Given the description of an element on the screen output the (x, y) to click on. 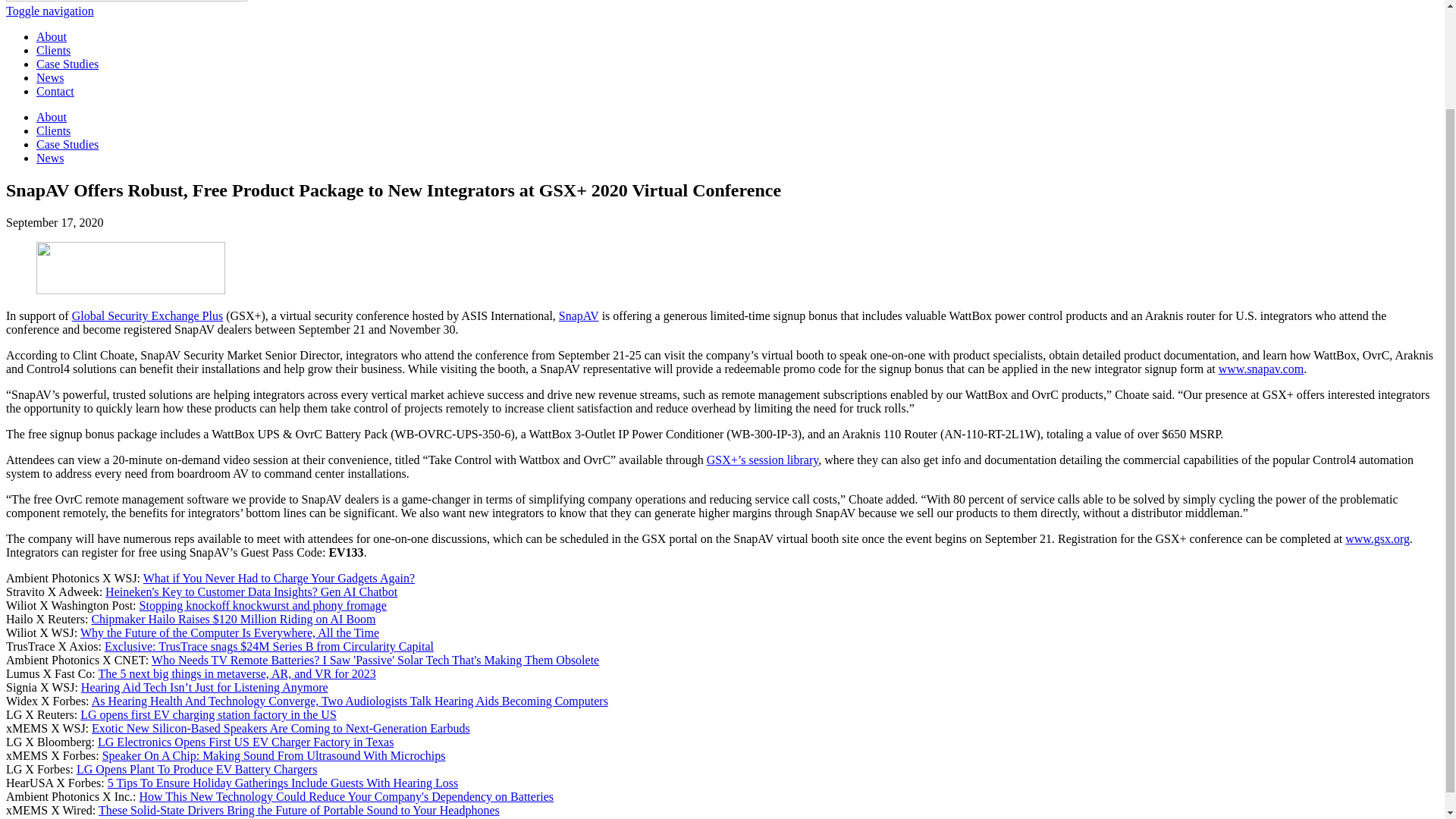
Case Studies (67, 63)
Clients (52, 50)
Case Studies (67, 144)
What if You Never Had to Charge Your Gadgets Again? (278, 577)
Why the Future of the Computer Is Everywhere, All the Time (229, 632)
News (50, 157)
Clients (52, 130)
